Given the description of an element on the screen output the (x, y) to click on. 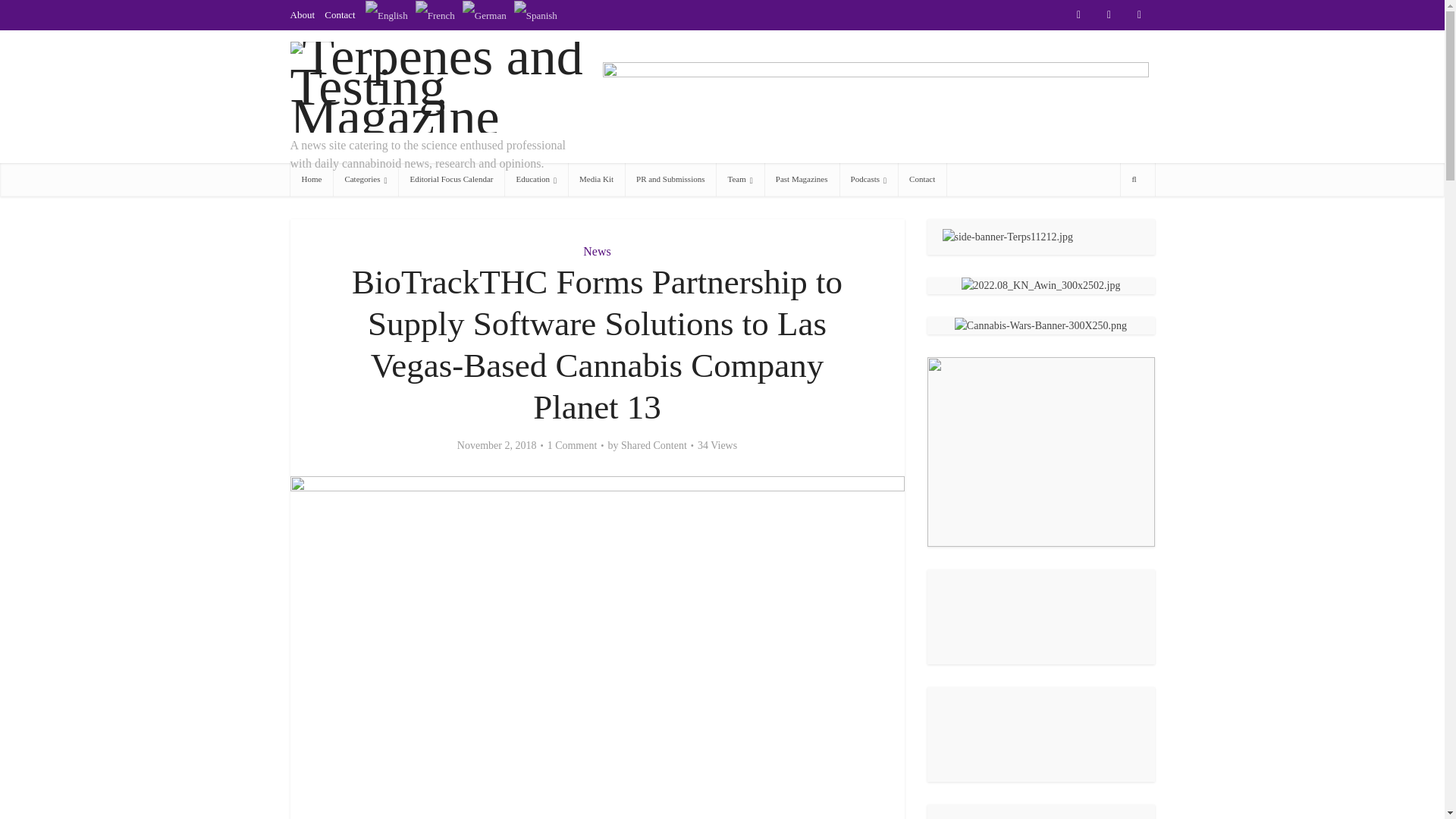
French (434, 14)
Team (739, 179)
English (386, 14)
Categories (365, 179)
About (301, 14)
German (484, 14)
Education (535, 179)
PR and Submissions (670, 179)
Podcasts (869, 179)
Past Magazines (802, 179)
